Given the description of an element on the screen output the (x, y) to click on. 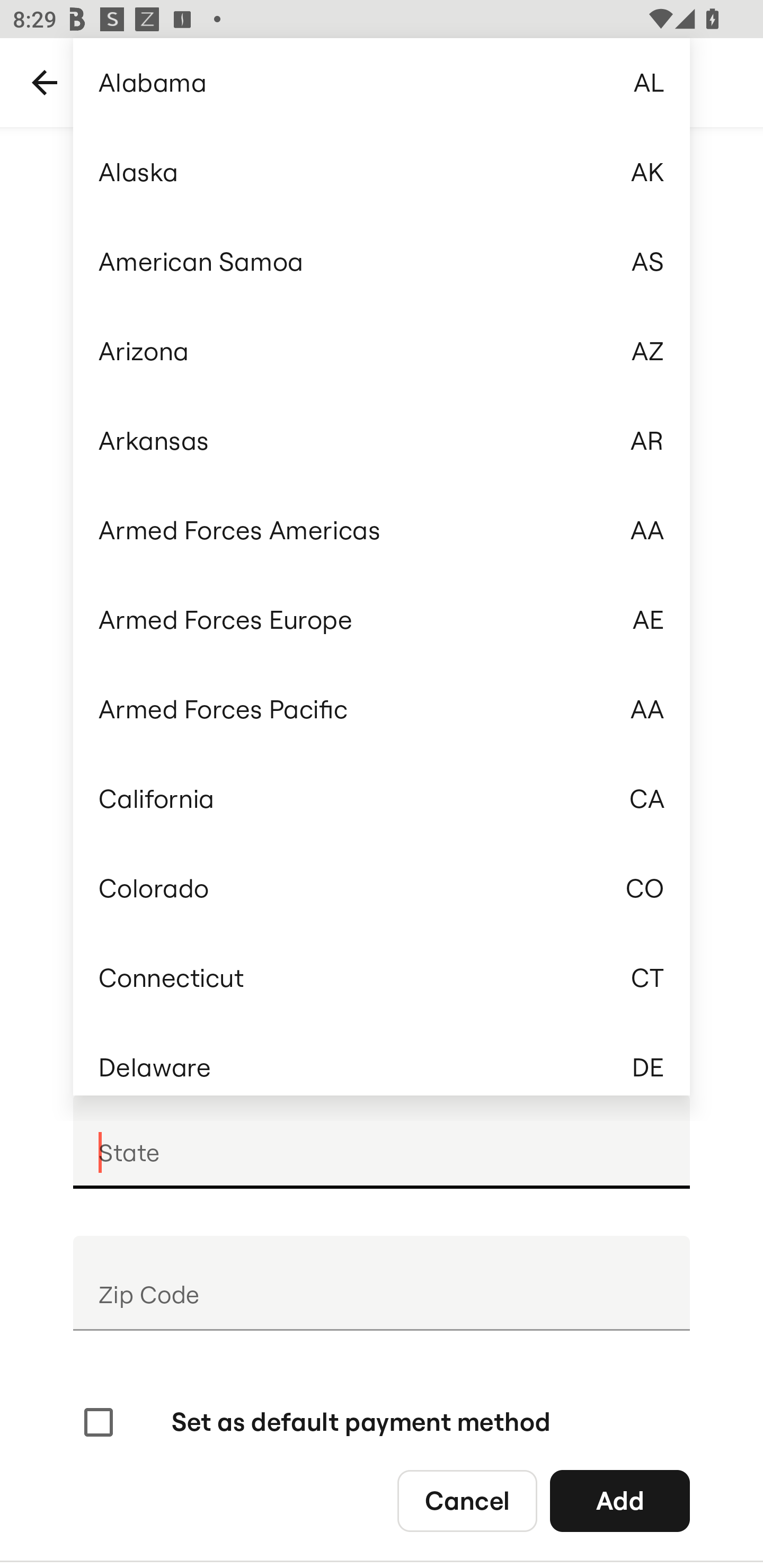
Back (44, 82)
Street Address (381, 714)
Apartment, building, suite (optional) (381, 857)
City (381, 999)
State (381, 1141)
Zip Code (381, 1283)
Set as default payment method (314, 1421)
Cancel (467, 1500)
Add (619, 1500)
